Given the description of an element on the screen output the (x, y) to click on. 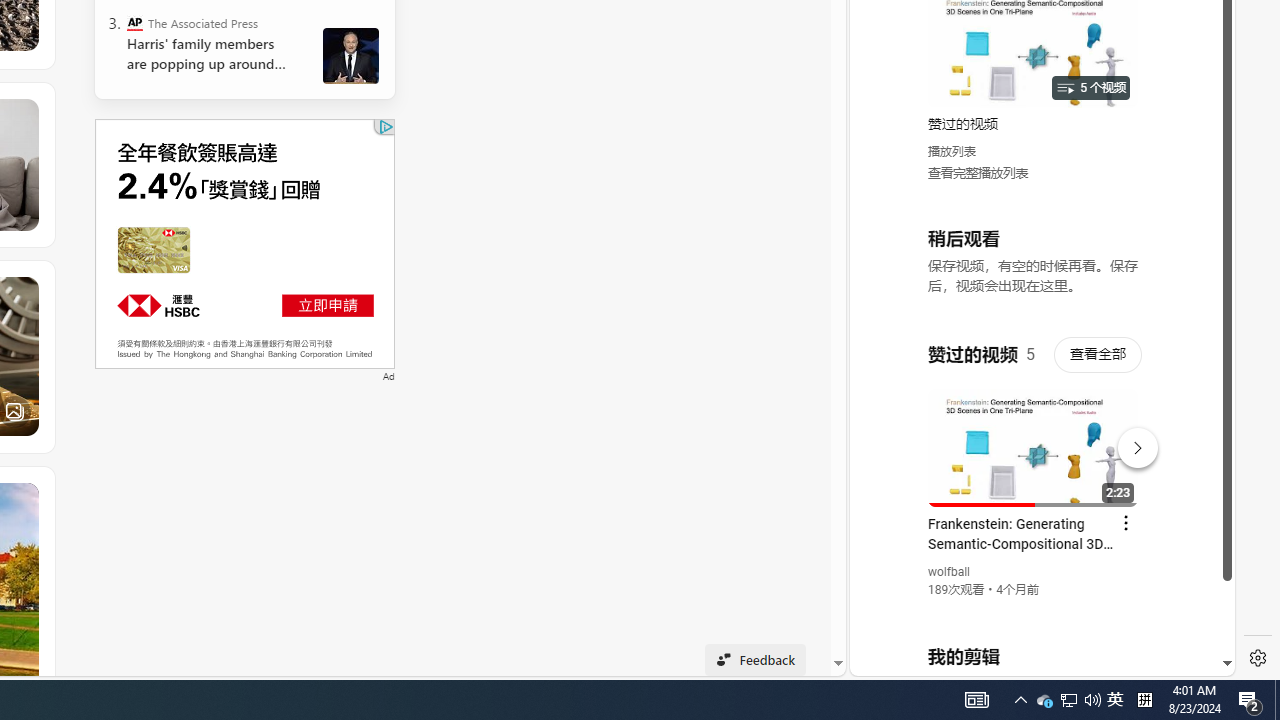
The Associated Press (134, 22)
Class: qc-adchoices-link top-right  (385, 125)
YouTube (1034, 432)
wolfball (949, 572)
US[ju] (917, 660)
#you (1034, 439)
you (1034, 609)
Actions for this site (1131, 443)
